Given the description of an element on the screen output the (x, y) to click on. 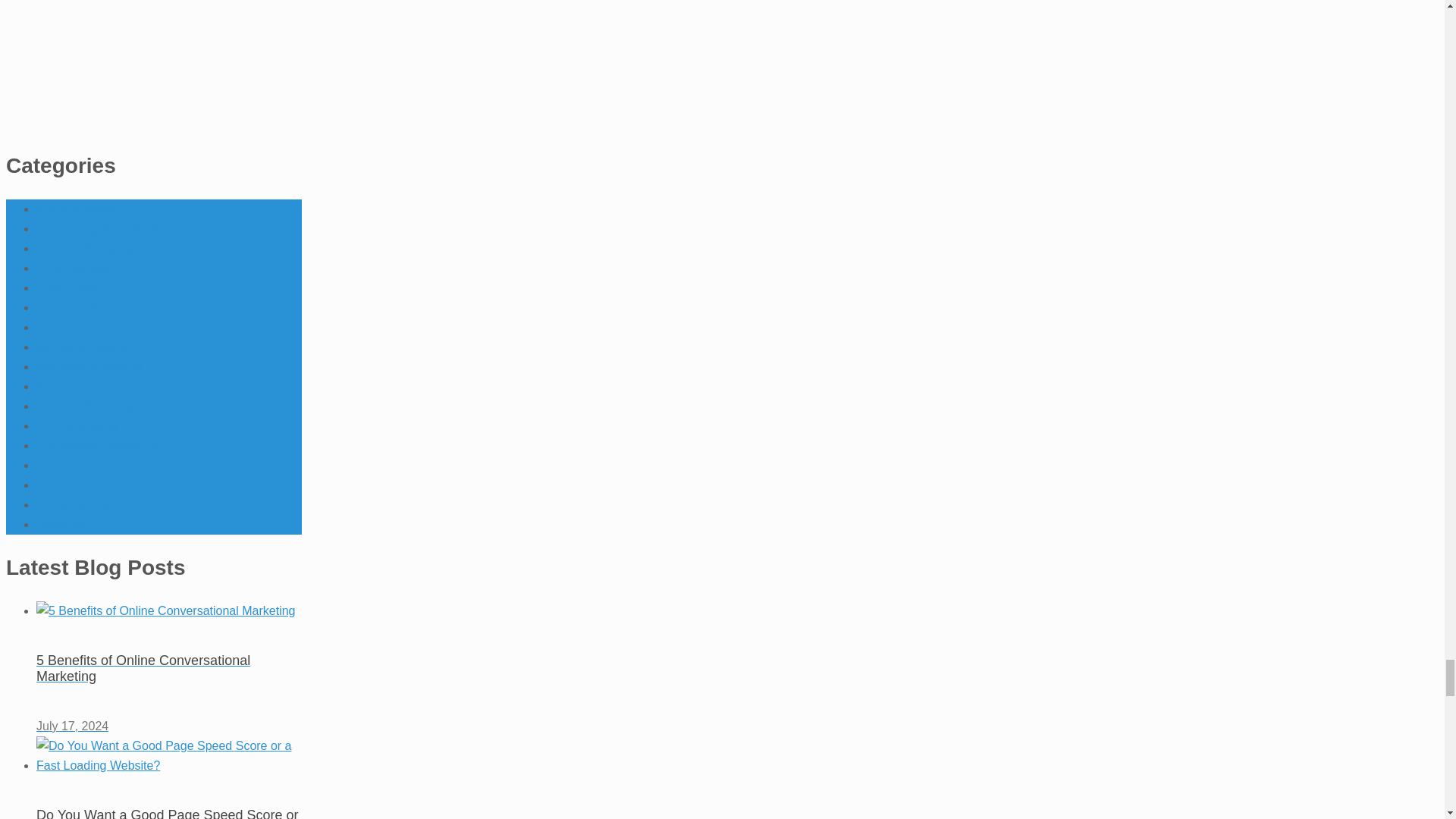
Market Boldly with Burlington Press (153, 63)
